Given the description of an element on the screen output the (x, y) to click on. 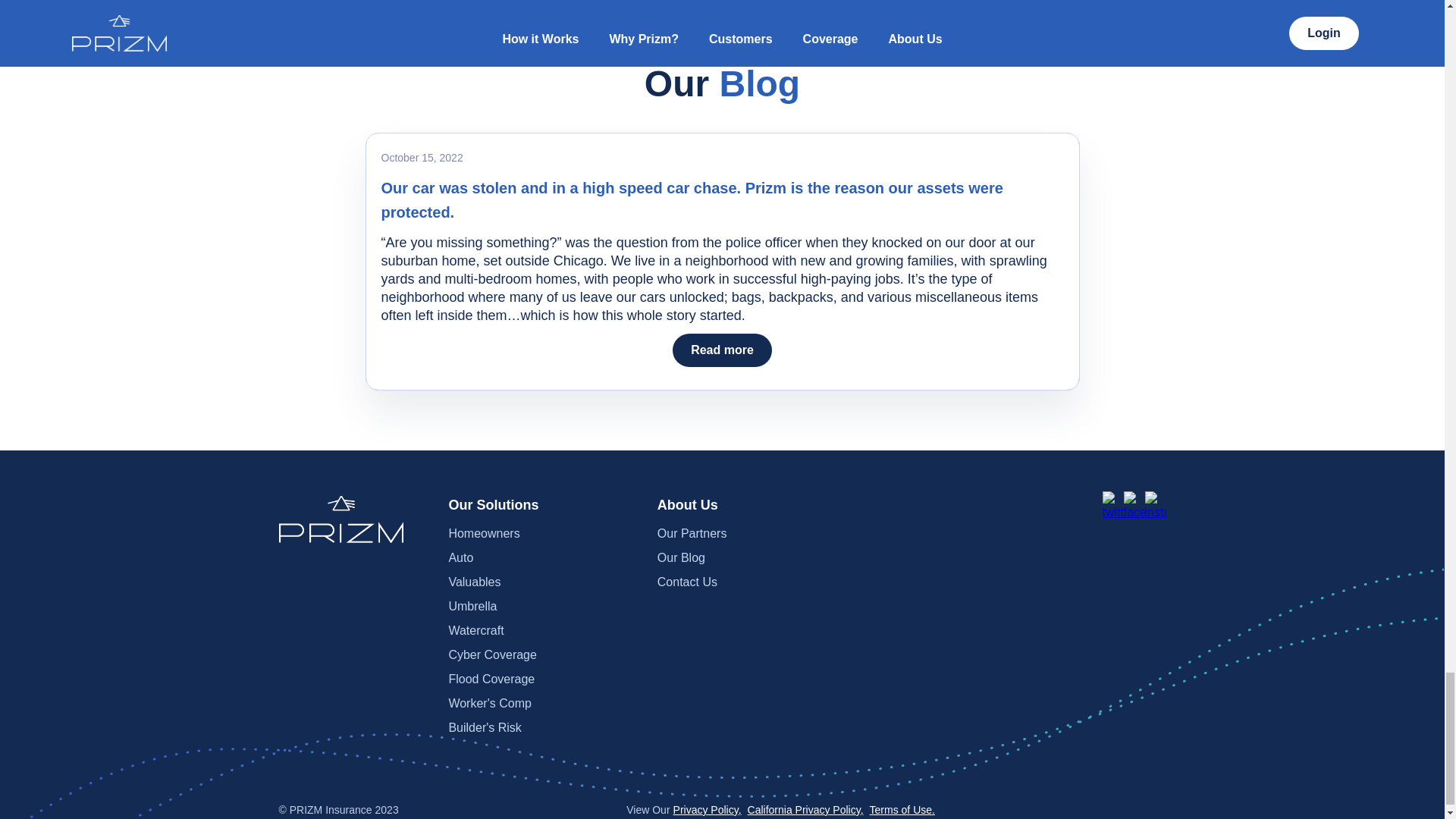
Flood Coverage (543, 679)
Homeowners (543, 533)
Read more (721, 349)
Cyber Coverage (543, 654)
Auto (543, 558)
Watercraft (543, 630)
Umbrella (543, 606)
Valuables (543, 582)
